Given the description of an element on the screen output the (x, y) to click on. 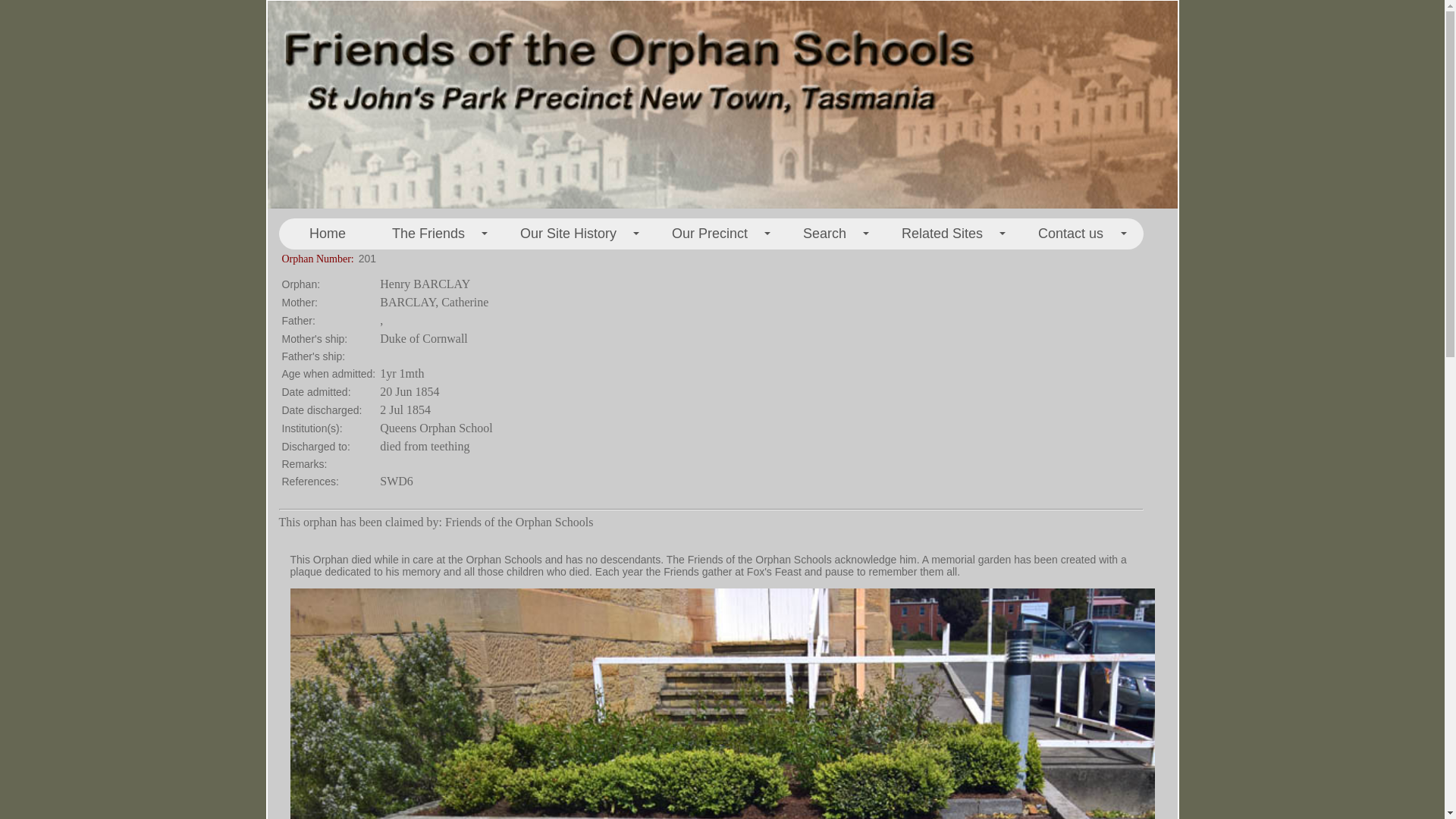
+
Related Sites Element type: text (946, 233)
+
Search Element type: text (828, 233)
+
Our Precinct Element type: text (713, 233)
+
Our Site History Element type: text (572, 233)
Home Element type: text (327, 233)
+
The Friends Element type: text (432, 233)
+
Contact us Element type: text (1074, 233)
